Given the description of an element on the screen output the (x, y) to click on. 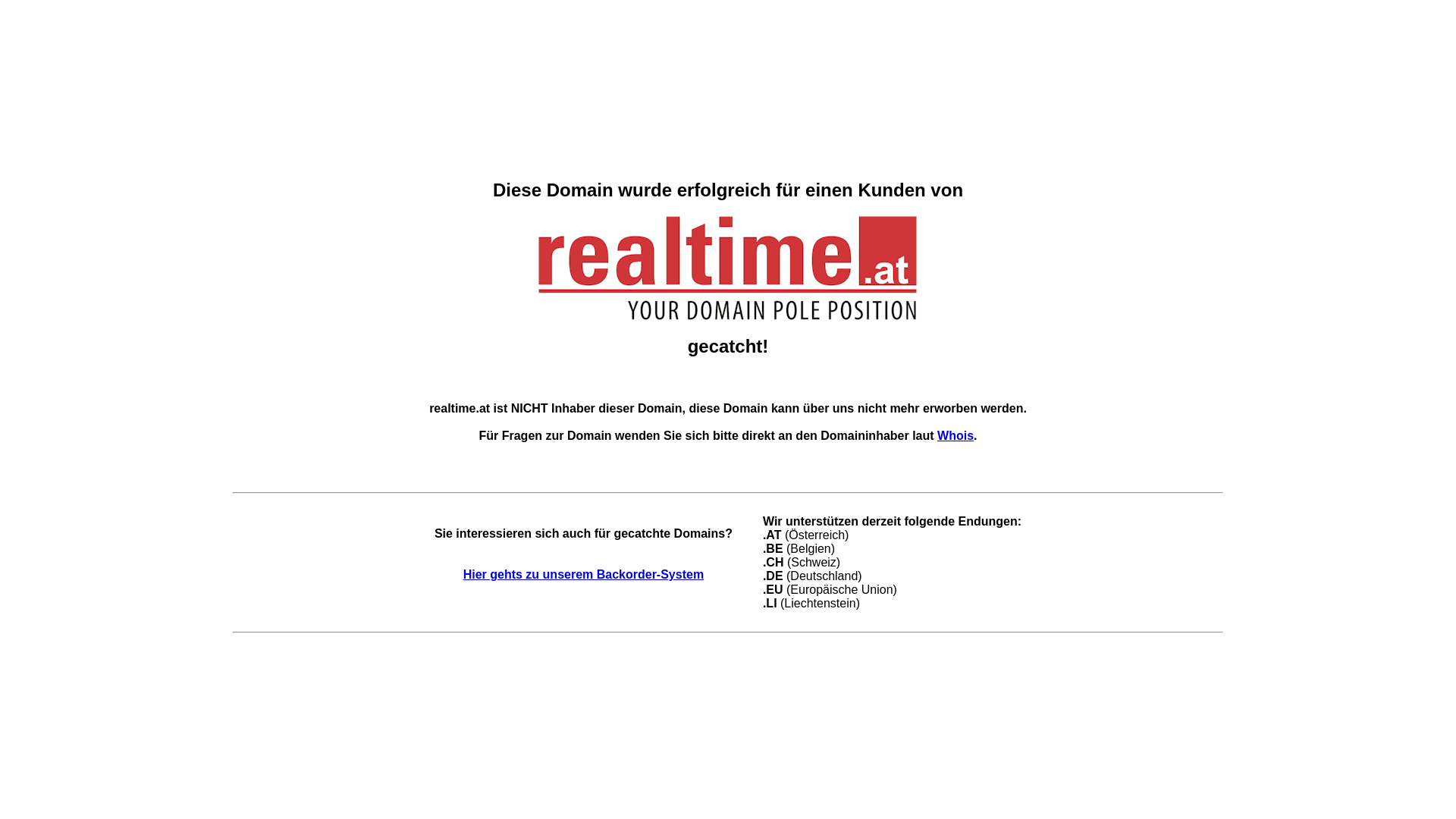
Hier gehts zu unserem Backorder-System Element type: text (583, 573)
Whois Element type: text (955, 435)
